Given the description of an element on the screen output the (x, y) to click on. 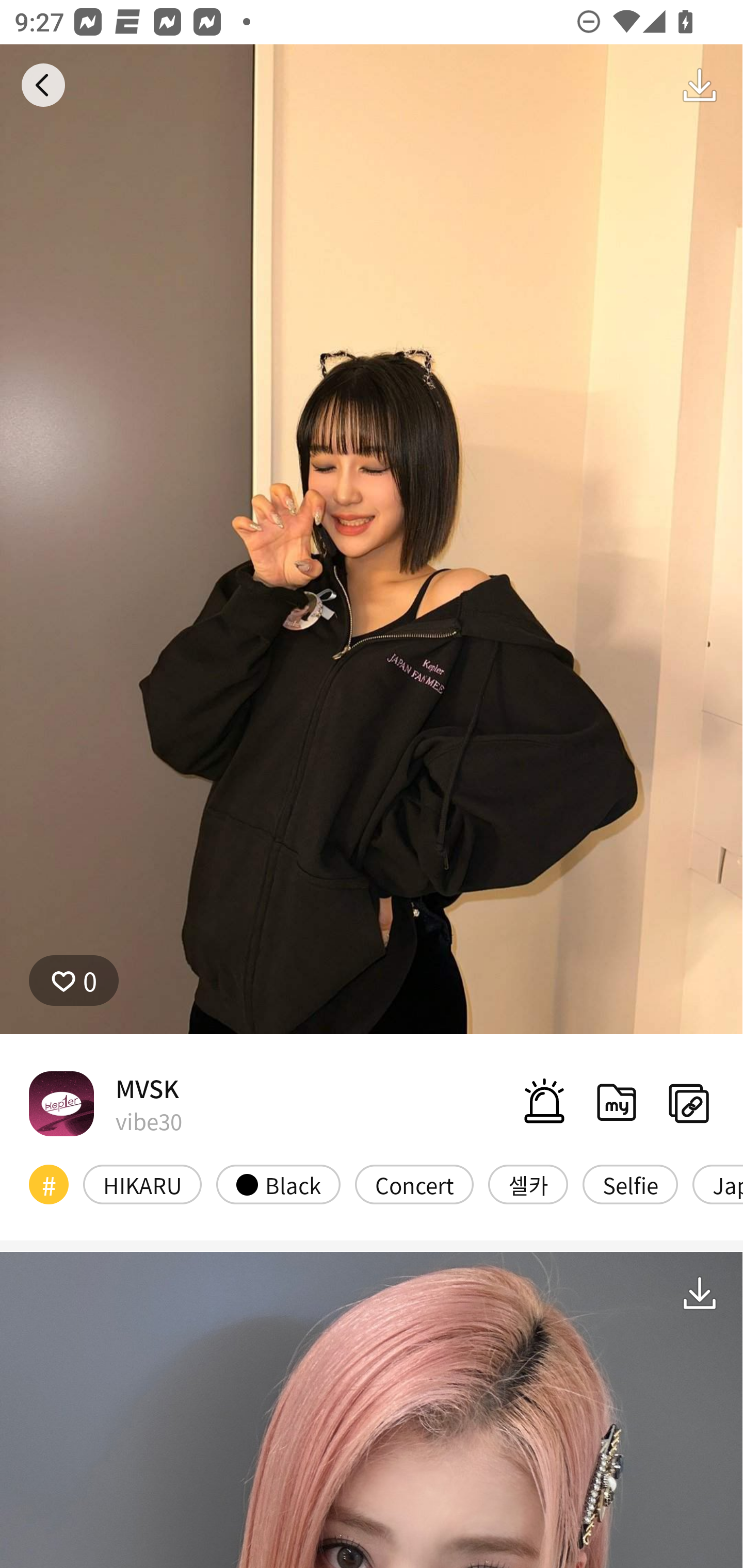
0 (73, 980)
MVSK vibe30 (105, 1102)
HIKARU (142, 1184)
Black (278, 1184)
Concert (414, 1184)
셀카 (528, 1184)
Selfie (629, 1184)
